Given the description of an element on the screen output the (x, y) to click on. 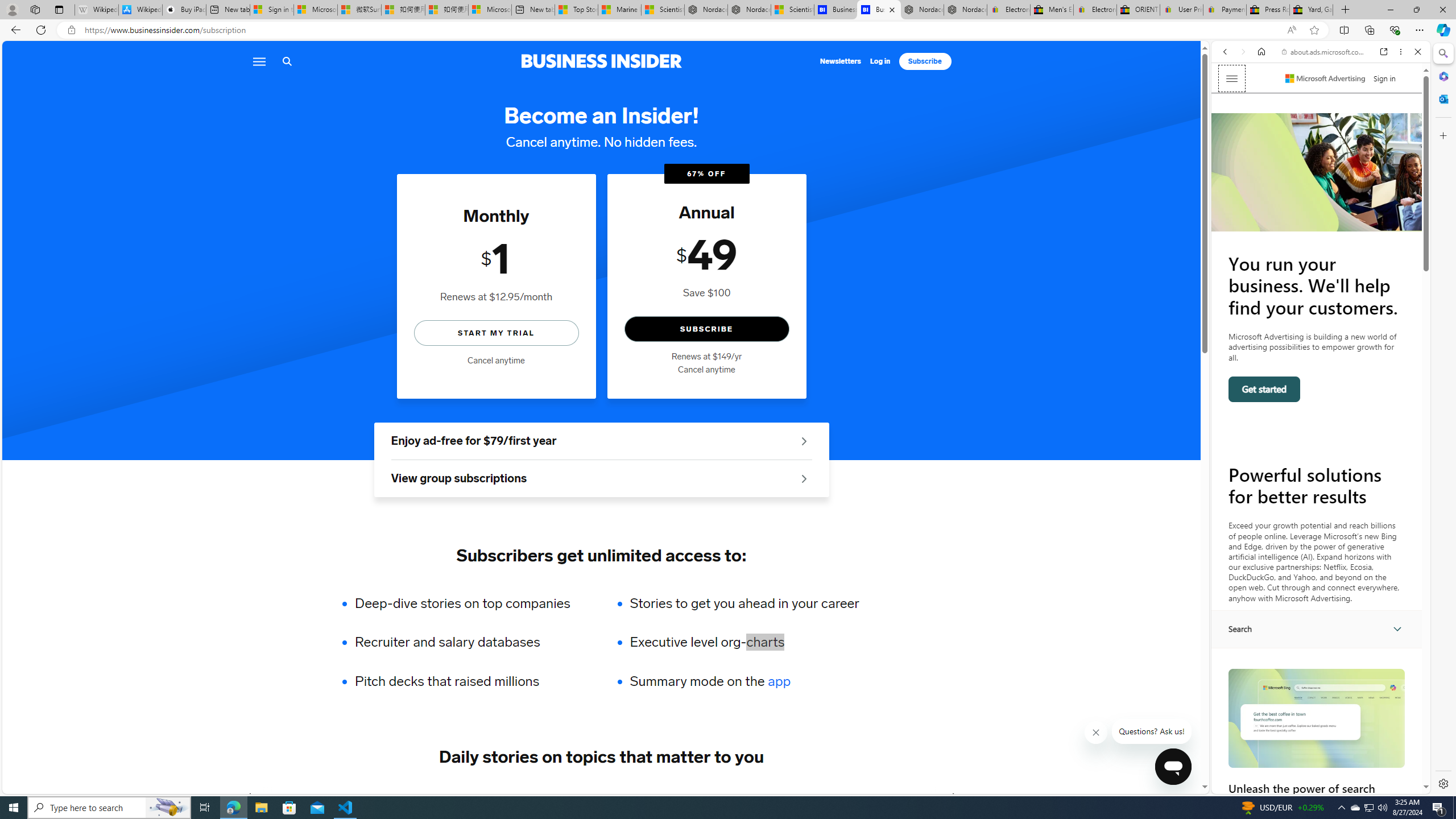
Search icon (286, 61)
